Given the description of an element on the screen output the (x, y) to click on. 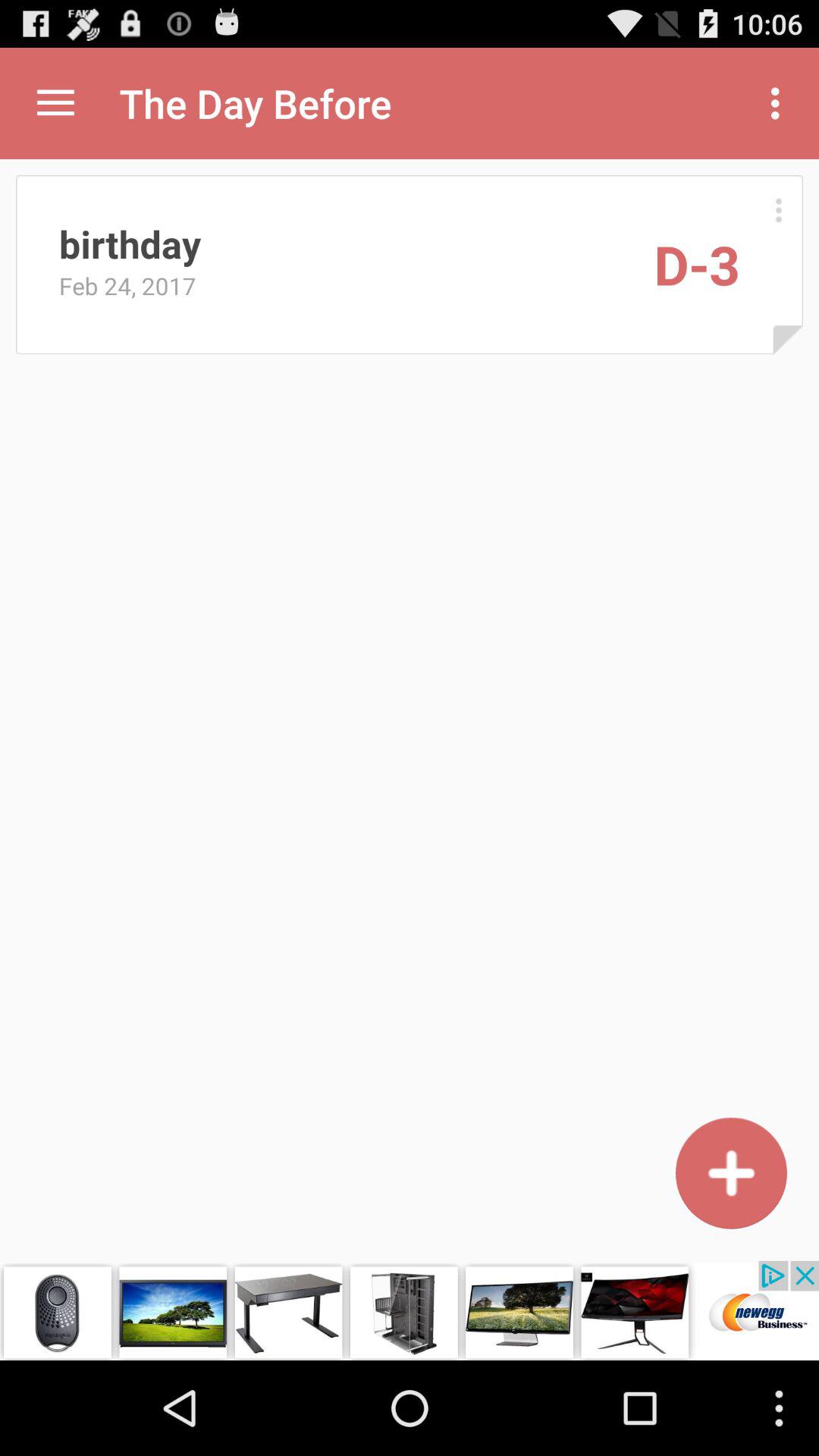
add event (731, 1173)
